Given the description of an element on the screen output the (x, y) to click on. 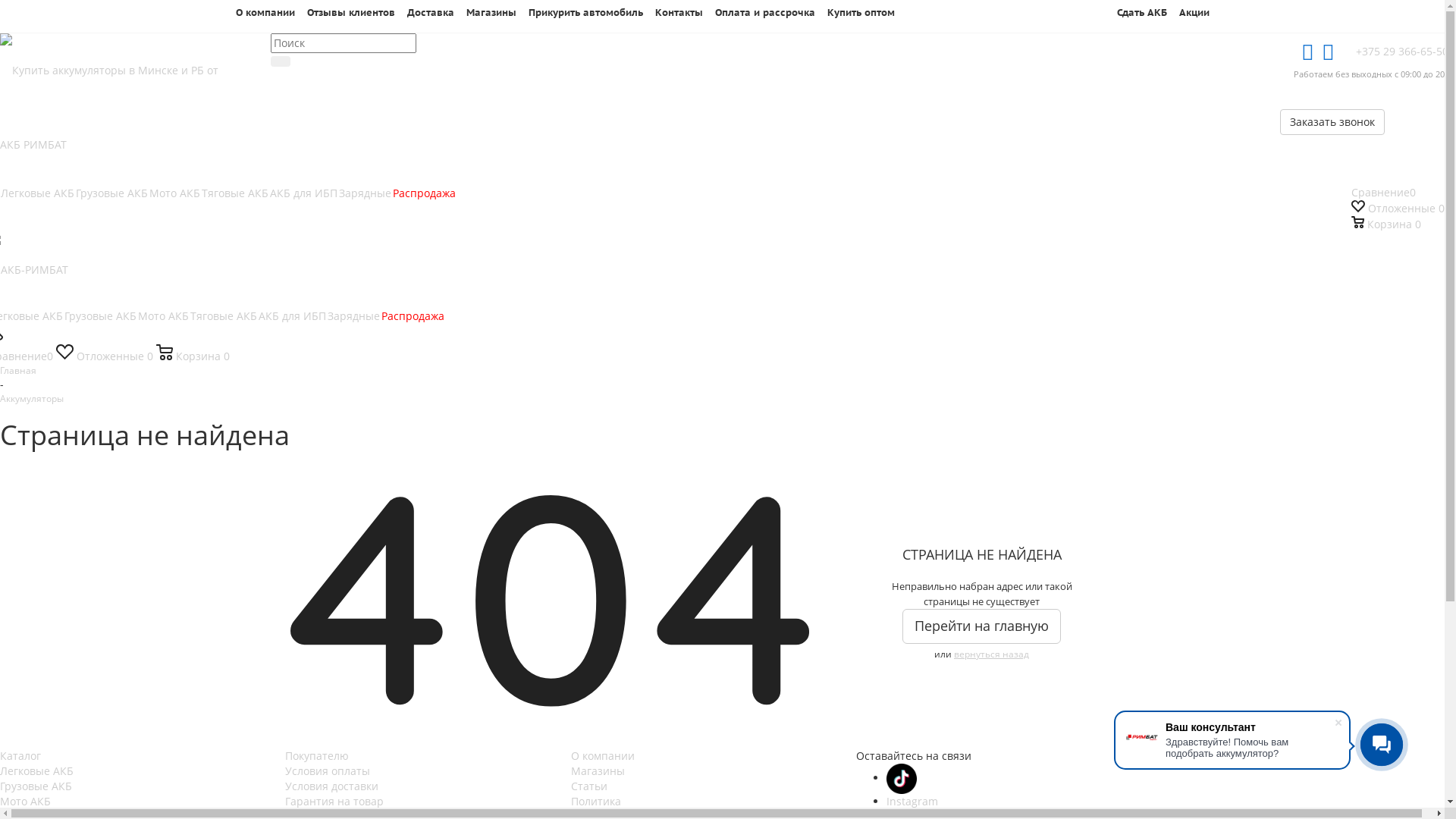
0 Element type: text (35, 13)
TikTok Element type: hover (901, 778)
+375 29 366-65-50 Element type: text (1401, 51)
0 Element type: text (29, 13)
0 Element type: text (39, 13)
Instagram Element type: text (912, 800)
0 Element type: text (50, 13)
